Given the description of an element on the screen output the (x, y) to click on. 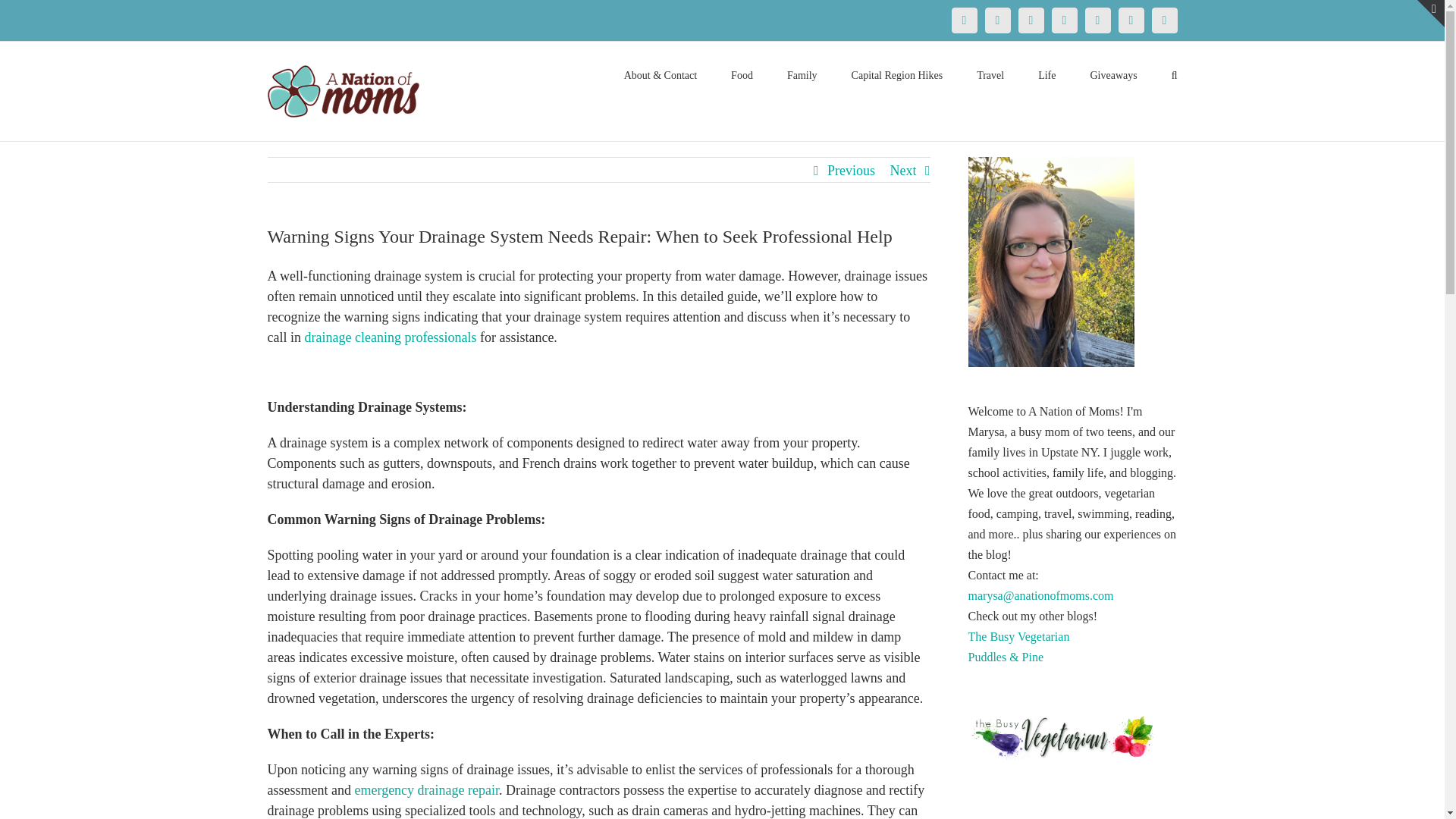
Email (1163, 20)
Facebook (963, 20)
Capital Region Hikes (897, 74)
Twitter (997, 20)
Instagram (1064, 20)
Pinterest (1030, 20)
YouTube (1096, 20)
